Given the description of an element on the screen output the (x, y) to click on. 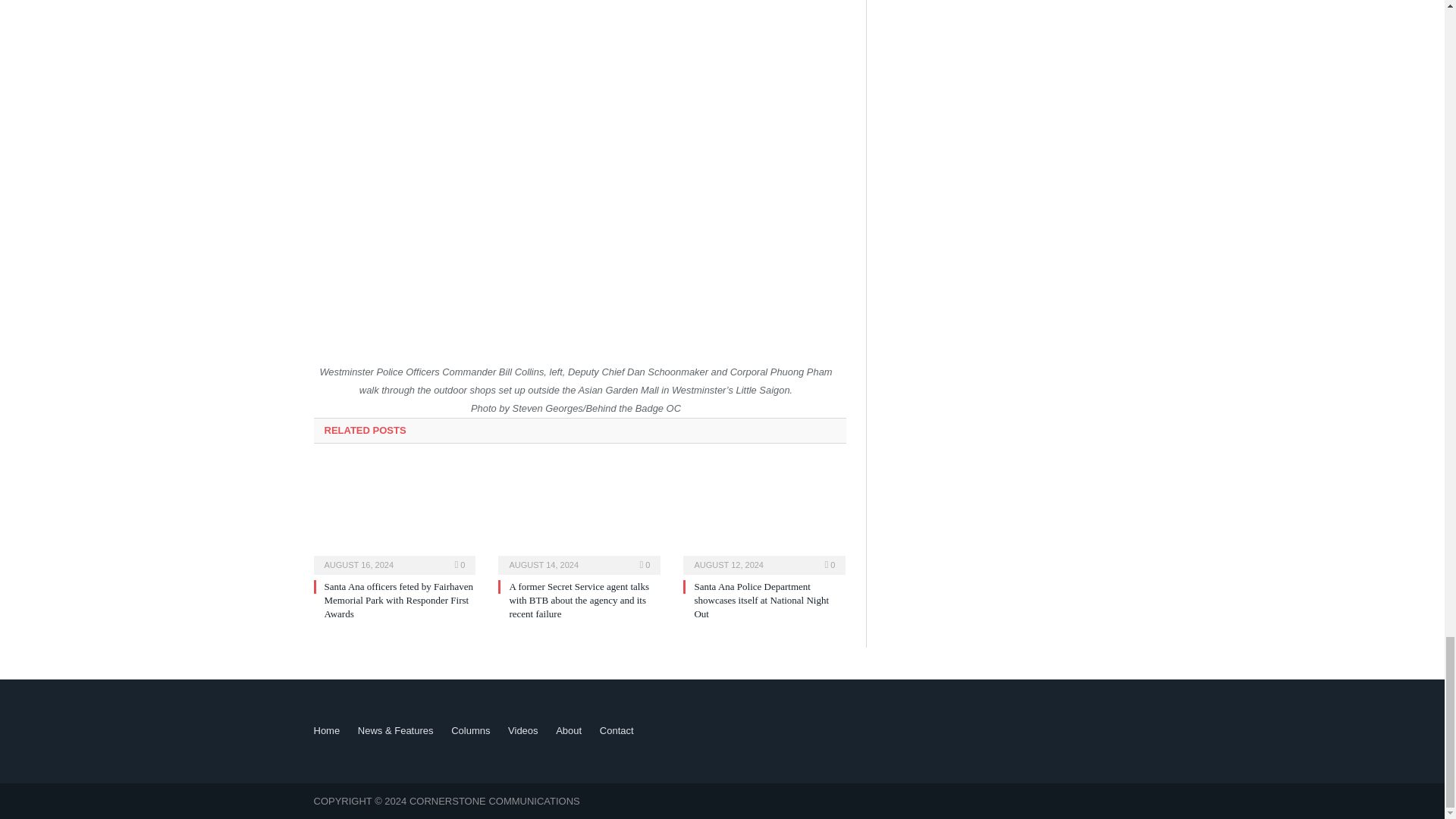
0 (645, 564)
0 (459, 564)
